Given the description of an element on the screen output the (x, y) to click on. 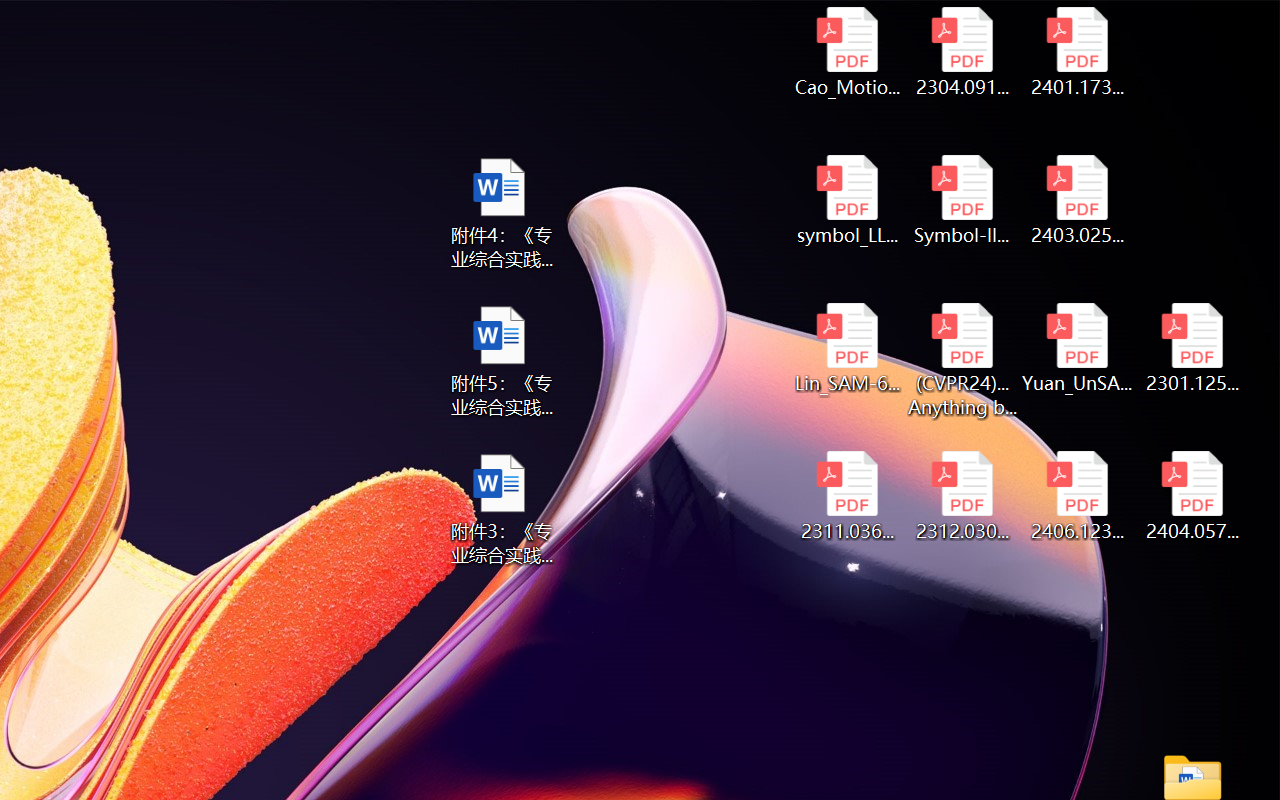
2403.02502v1.pdf (1077, 200)
